Given the description of an element on the screen output the (x, y) to click on. 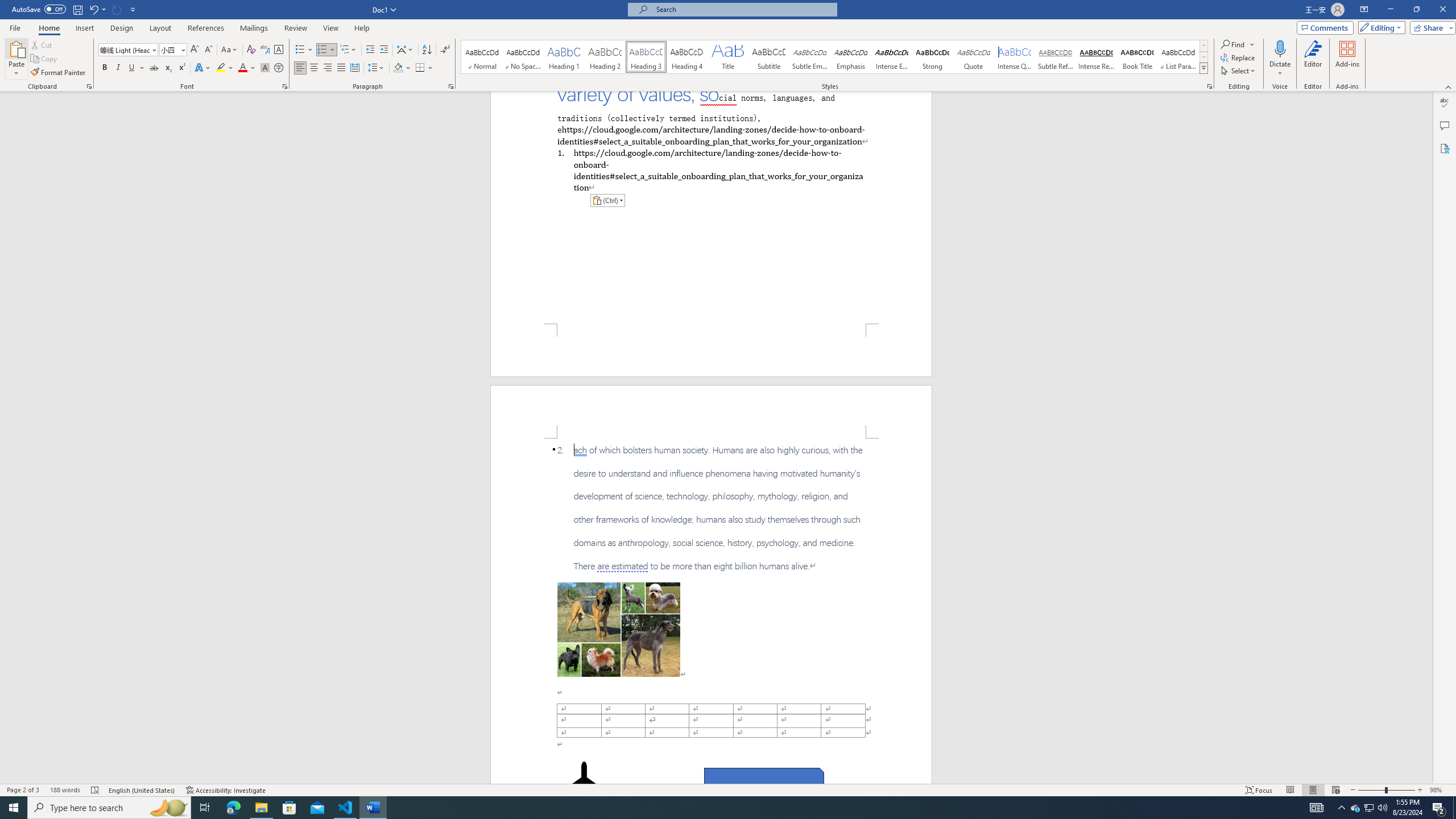
Row Down (1203, 56)
Bold (104, 67)
Font Color (246, 67)
Superscript (180, 67)
Emphasis (849, 56)
Justify (340, 67)
Decrease Indent (370, 49)
Undo Paste (92, 9)
Heading 3 (646, 56)
Format Painter (58, 72)
